Given the description of an element on the screen output the (x, y) to click on. 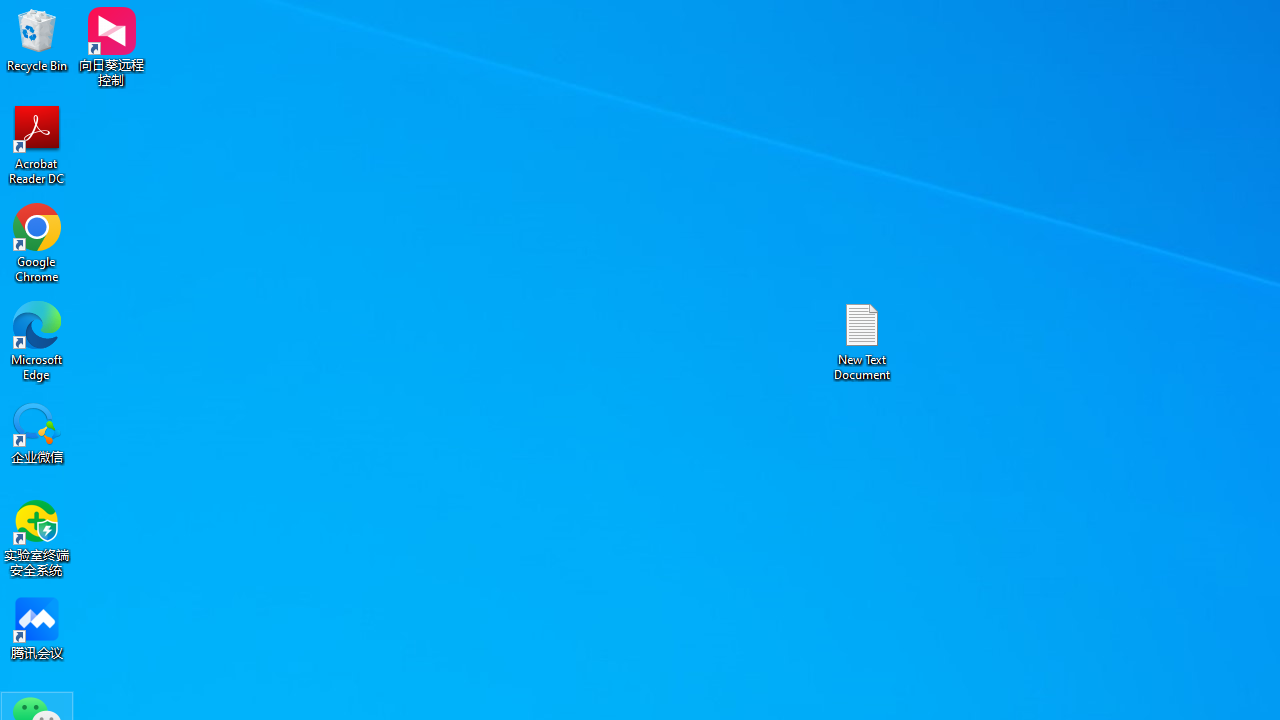
Google Chrome (37, 242)
Microsoft Edge (37, 340)
Acrobat Reader DC (37, 144)
New Text Document (861, 340)
Recycle Bin (37, 39)
